Given the description of an element on the screen output the (x, y) to click on. 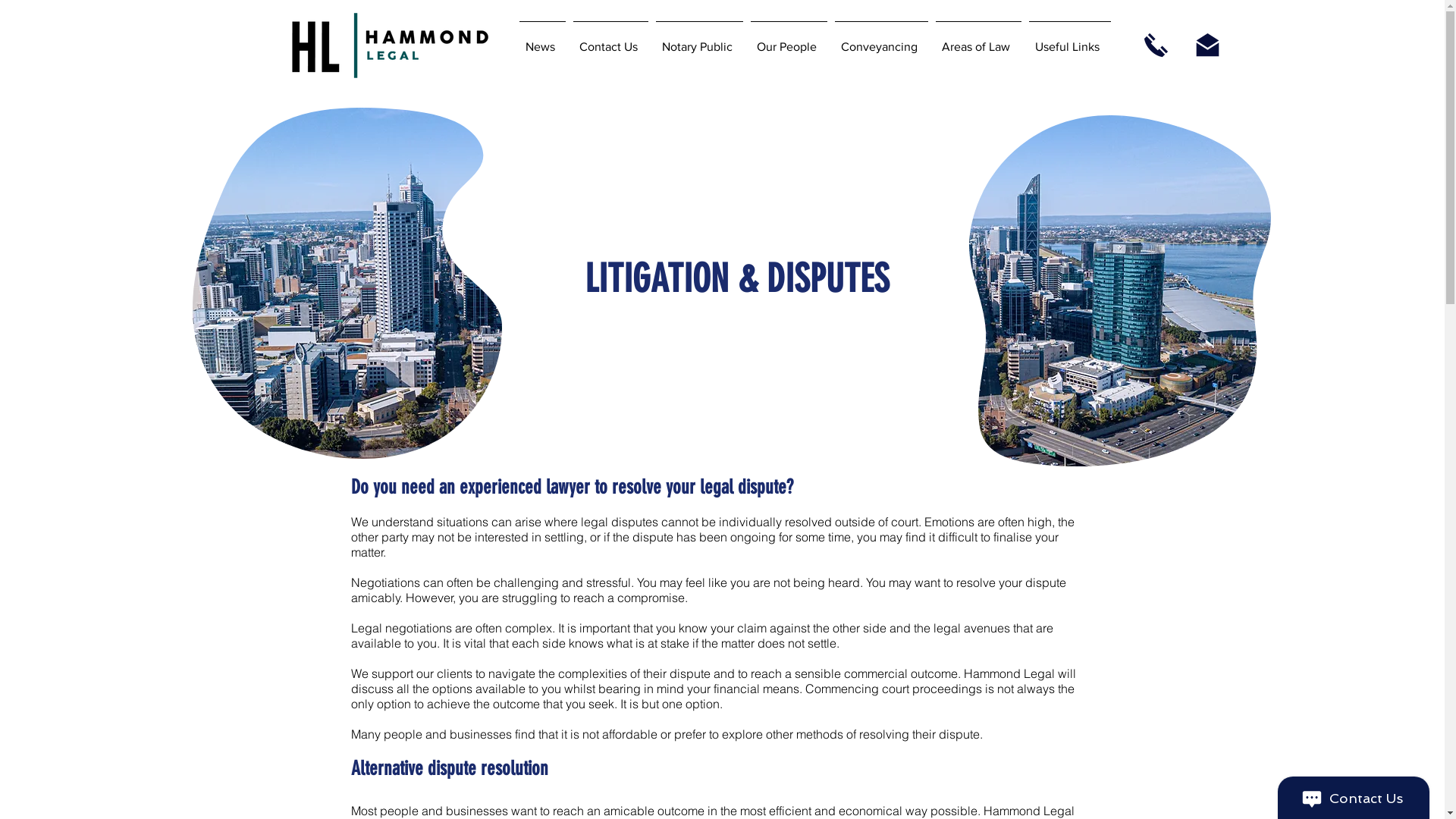
Contact Us Element type: text (609, 40)
Notary Public Element type: text (699, 40)
Useful Links Element type: text (1069, 40)
News Element type: text (542, 40)
Conveyancing Element type: text (881, 40)
Our People Element type: text (788, 40)
Areas of Law Element type: text (977, 40)
